Given the description of an element on the screen output the (x, y) to click on. 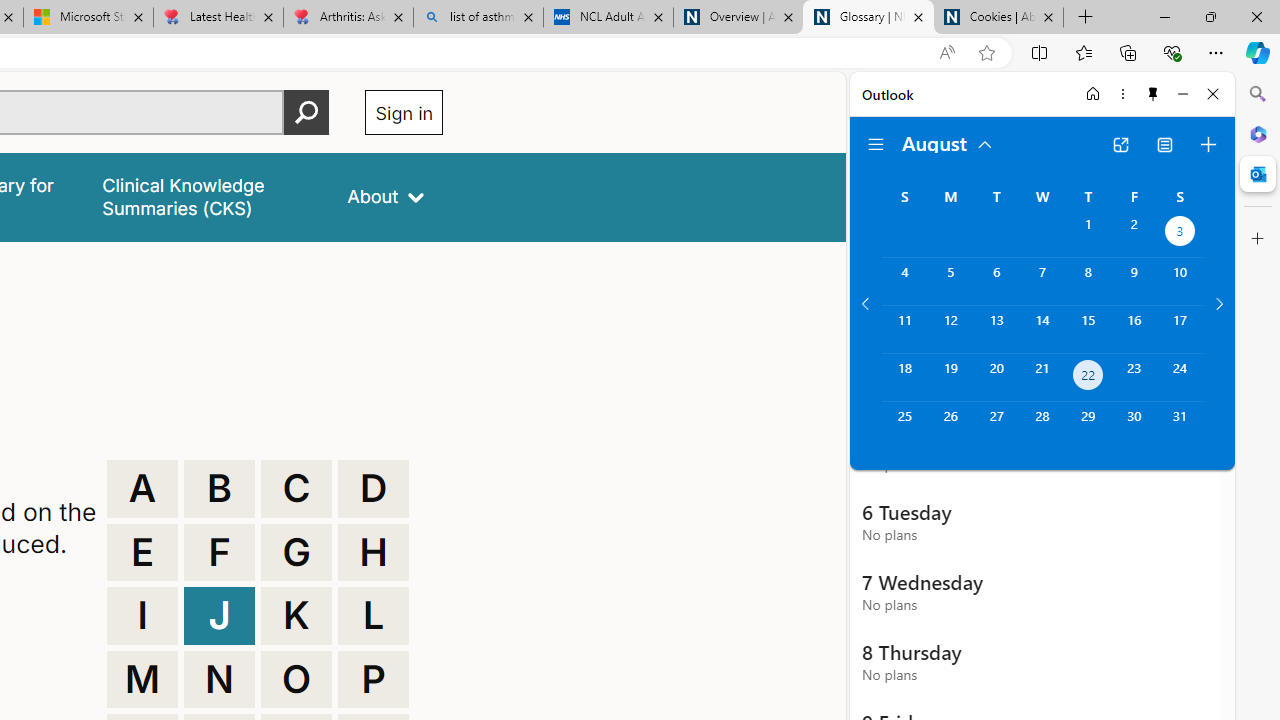
Friday, August 2, 2024.  (1134, 233)
B (219, 488)
M (142, 679)
D (373, 488)
C (296, 488)
O (296, 679)
A (142, 488)
Wednesday, August 7, 2024.  (1042, 281)
